Given the description of an element on the screen output the (x, y) to click on. 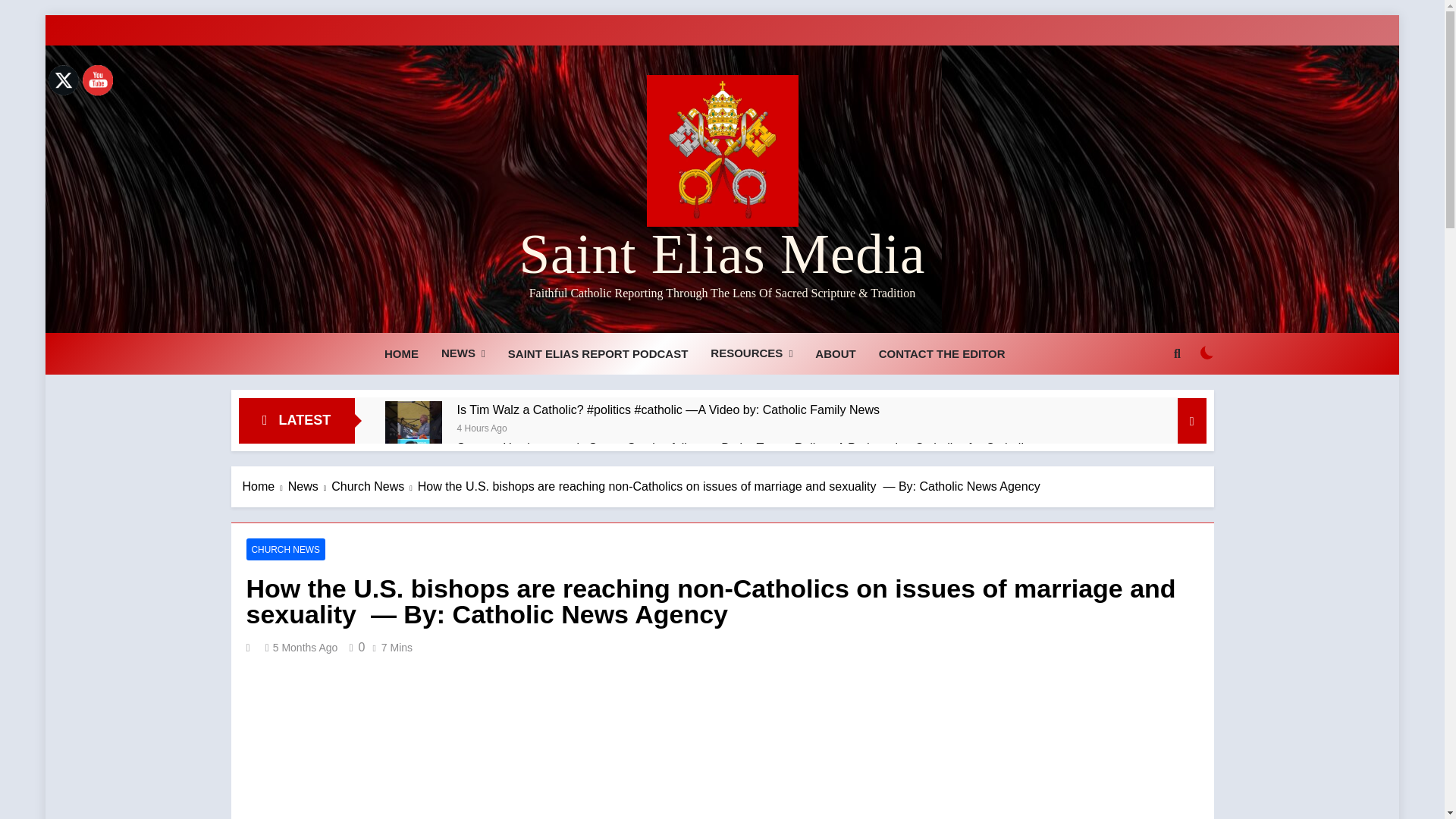
on (1206, 352)
SAINT ELIAS REPORT PODCAST (598, 353)
HOME (400, 353)
NEWS (462, 353)
4 Hours Ago (481, 427)
Saint Elias Media (721, 254)
ABOUT (834, 353)
RESOURCES (750, 353)
CONTACT THE EDITOR (941, 353)
